Given the description of an element on the screen output the (x, y) to click on. 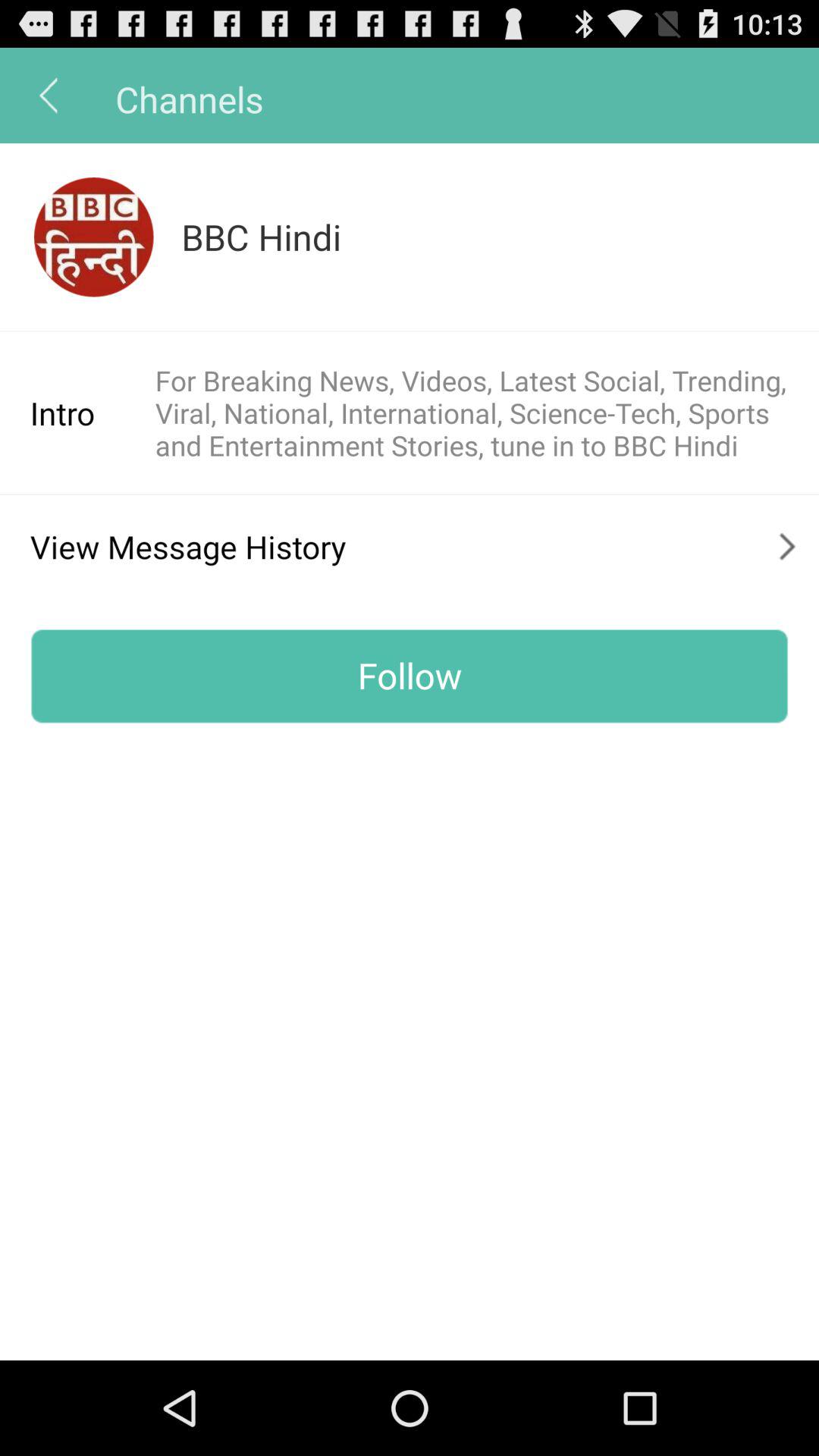
select item below view message history icon (409, 676)
